Given the description of an element on the screen output the (x, y) to click on. 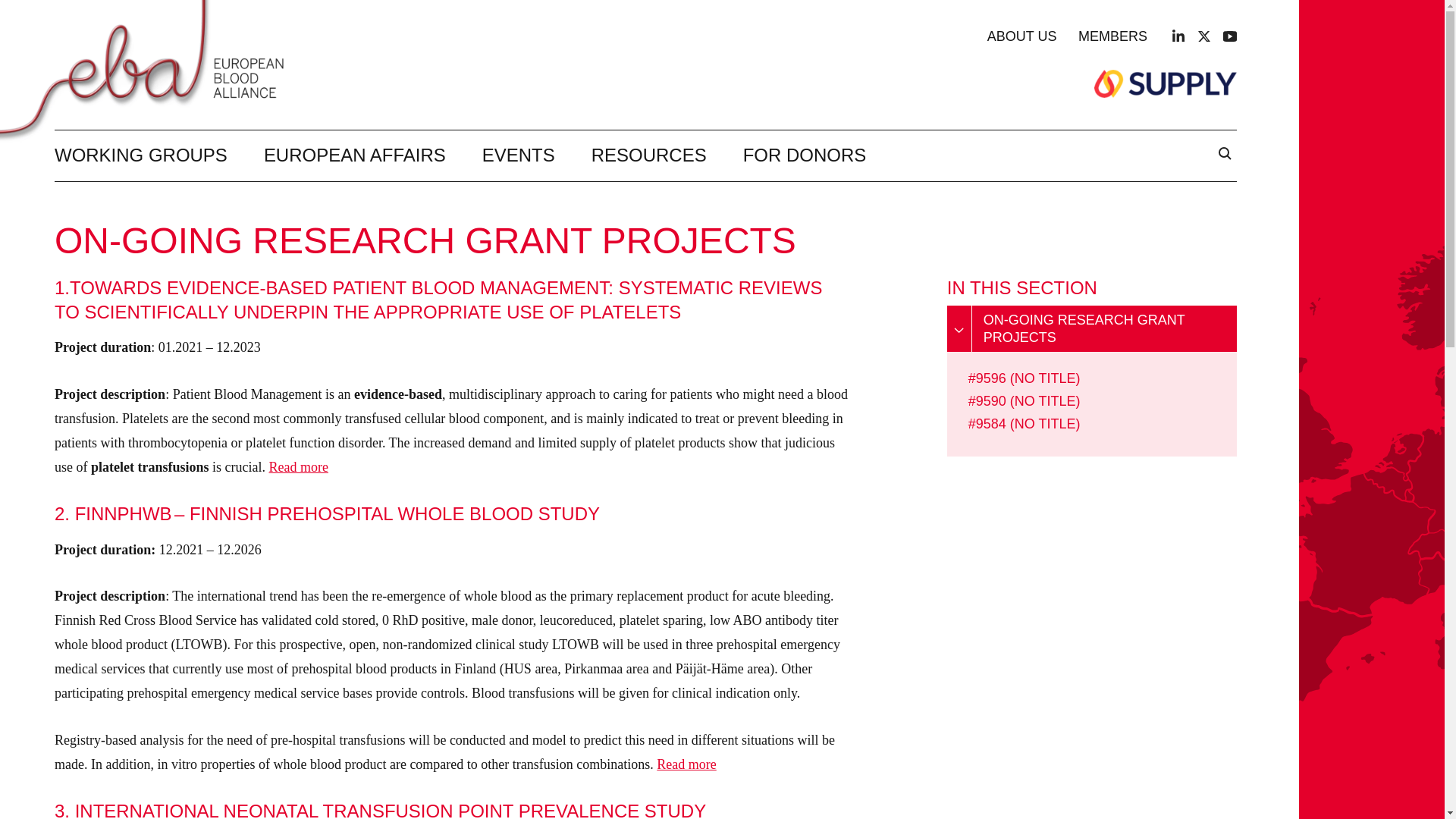
WORKING GROUPS (141, 155)
RESOURCES (648, 155)
European Blood Alliance (153, 69)
EUROPEAN AFFAIRS (354, 155)
FOR DONORS (804, 155)
Search (1224, 155)
Read more (297, 467)
ON-GOING RESEARCH GRANT PROJECTS (1091, 328)
Read more (686, 764)
MEMBERS (1112, 36)
EVENTS (517, 155)
ABOUT US (1022, 36)
